Given the description of an element on the screen output the (x, y) to click on. 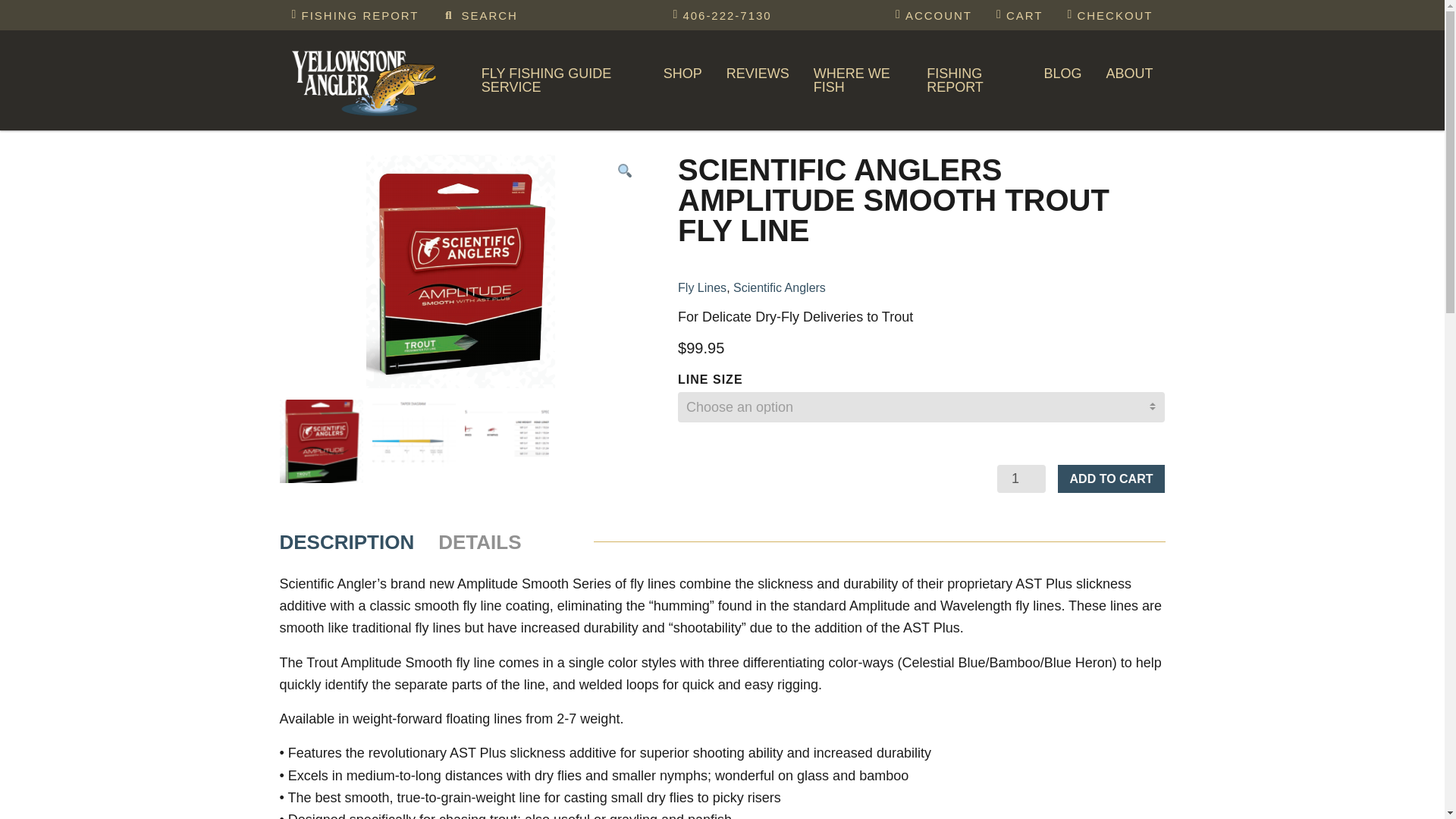
SEARCH (479, 15)
REVIEWS (758, 73)
FLY FISHING GUIDE SERVICE (559, 80)
FISHING REPORT (354, 15)
CHECKOUT (1109, 15)
YELLOWSTONE RIVER (913, 117)
ACCOUNT (933, 15)
MEET OUR FISHING GUIDES (581, 117)
SHOP (682, 73)
WHERE WE FISH (858, 80)
